Given the description of an element on the screen output the (x, y) to click on. 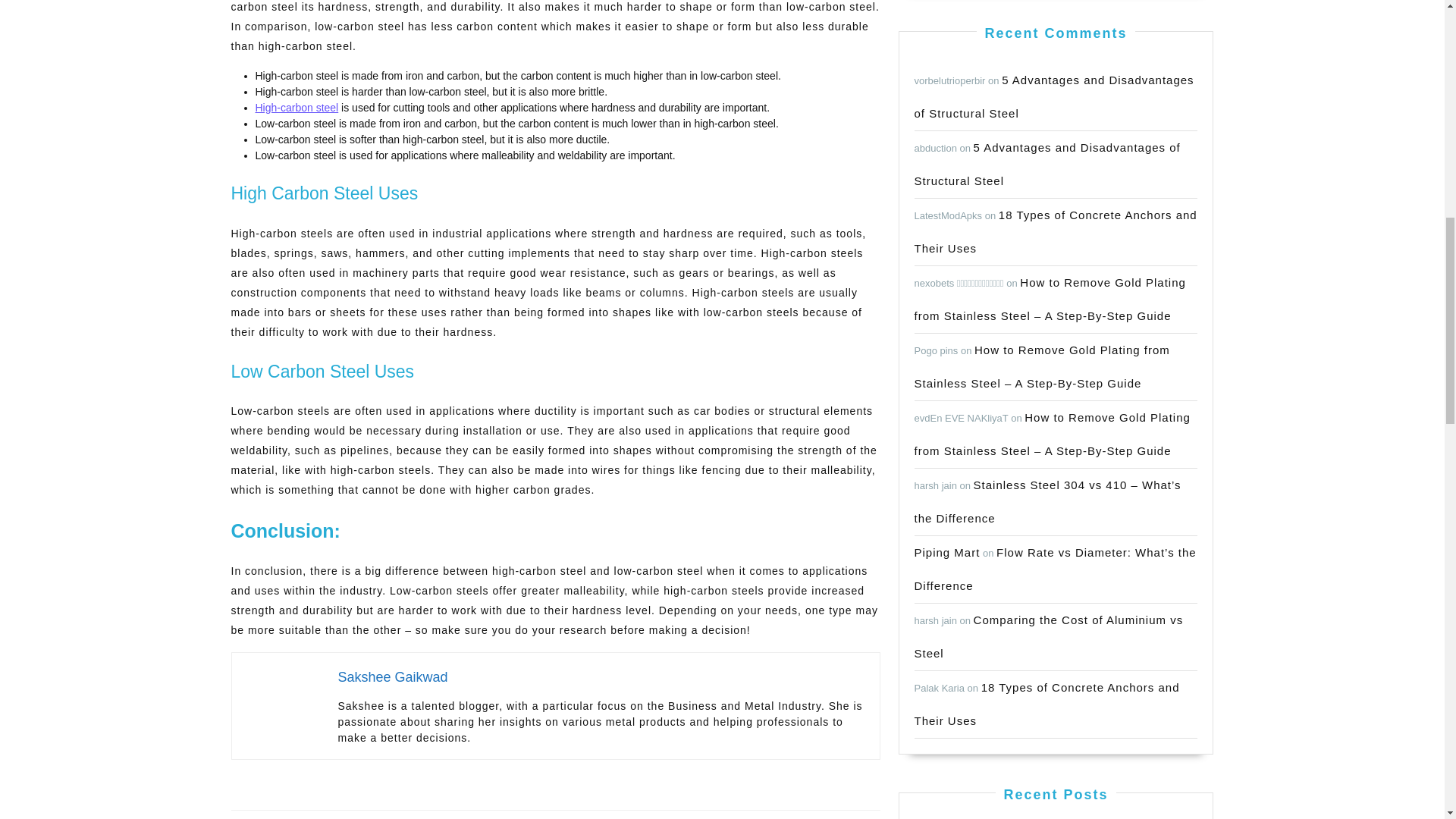
5 Advantages and Disadvantages of Structural Steel (1047, 163)
Piping Mart (392, 800)
High-carbon steel (946, 552)
5 Advantages and Disadvantages of Structural Steel (295, 107)
18 Types of Concrete Anchors and Their Uses (1053, 96)
Sakshee Gaikwad (716, 800)
